Given the description of an element on the screen output the (x, y) to click on. 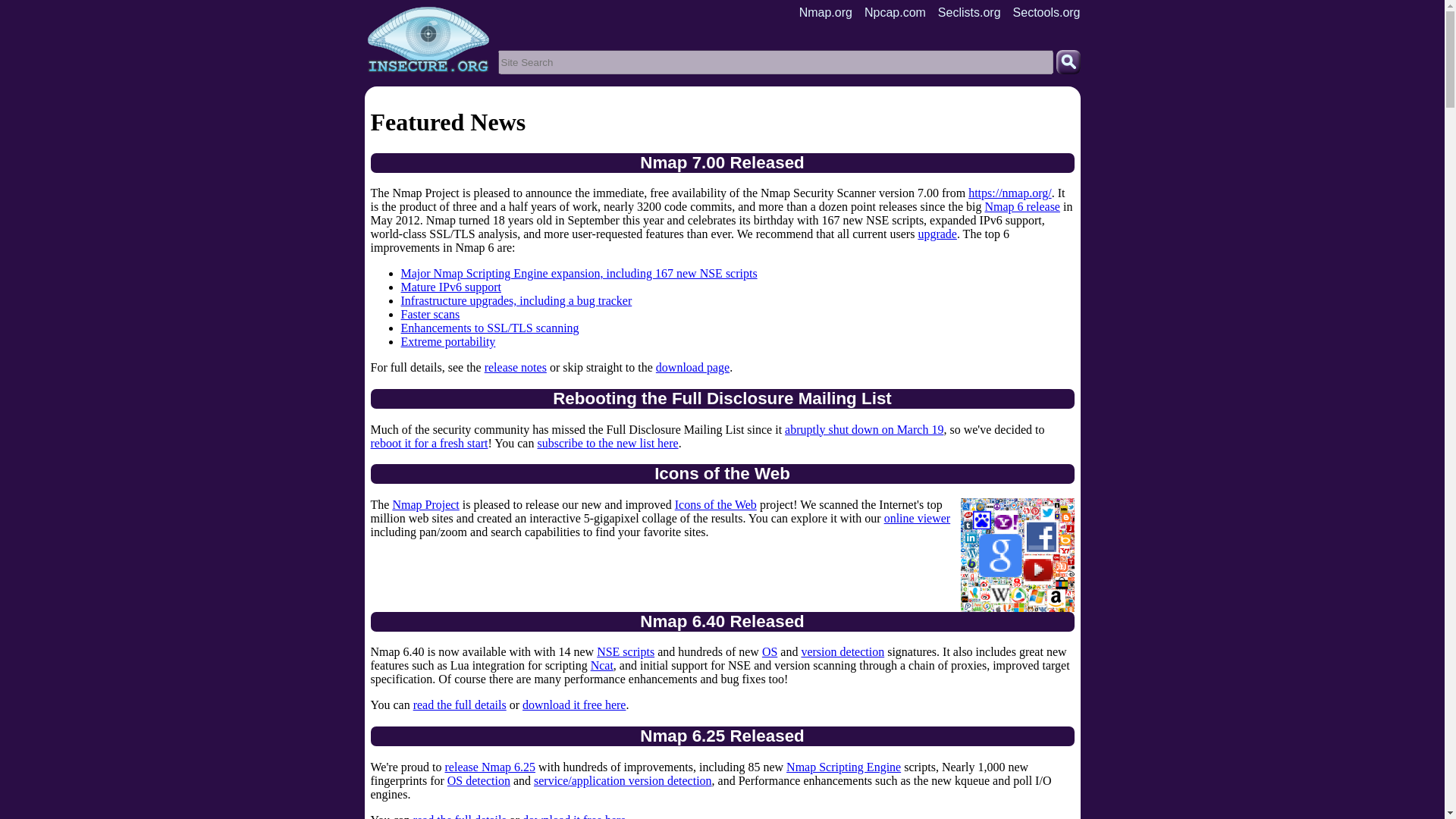
Seclists.org (969, 24)
OS detection (478, 779)
Nmap 6 release (1021, 205)
download page (692, 367)
read the full details (459, 704)
read the full details (459, 816)
version detection (841, 651)
Nmap.org (825, 24)
release Nmap 6.25 (490, 766)
Icons of the Web (716, 504)
abruptly shut down on March 19 (863, 429)
Ncat (601, 665)
Sectools.org (1046, 24)
Mature IPv6 support (450, 286)
subscribe to the new list here (607, 442)
